Given the description of an element on the screen output the (x, y) to click on. 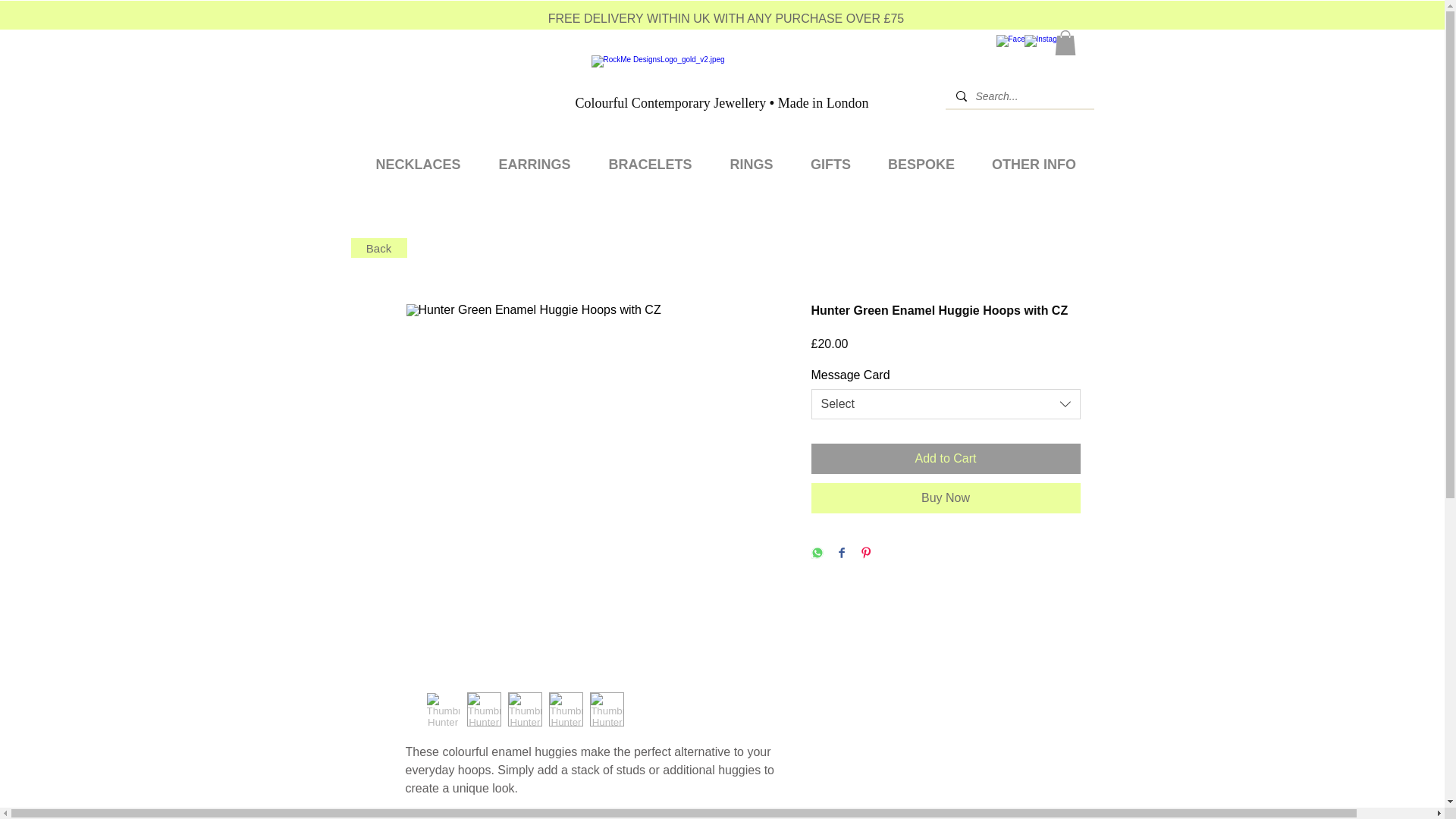
Add to Cart (945, 458)
RINGS (751, 157)
EARRINGS (534, 157)
Buy Now (945, 498)
Websitelogogem.jpg (714, 74)
BRACELETS (650, 157)
Select (945, 404)
NECKLACES (417, 157)
BESPOKE (920, 157)
